Given the description of an element on the screen output the (x, y) to click on. 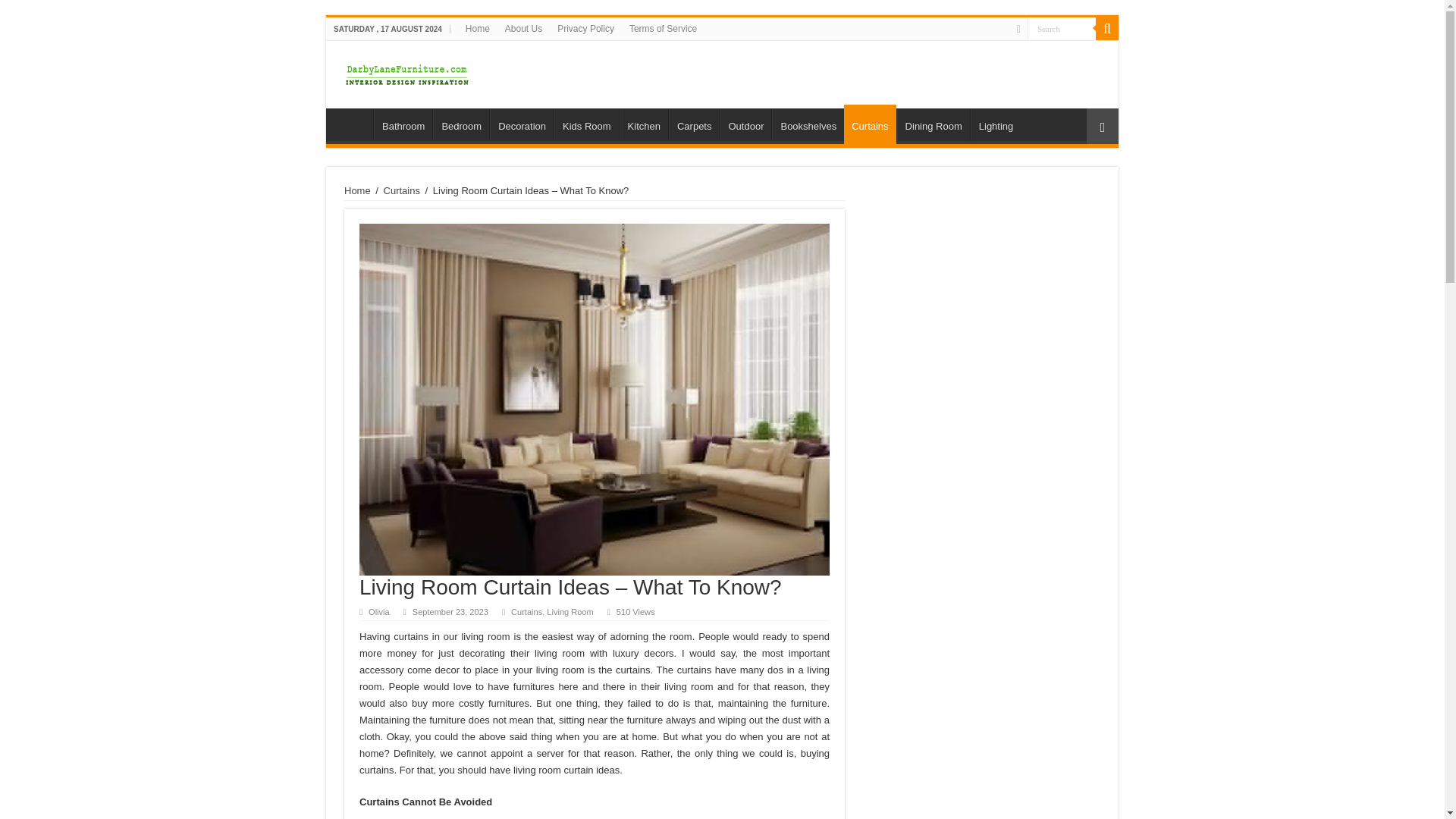
Bookshelves (807, 124)
Home (477, 28)
Outdoor (745, 124)
Privacy Policy (585, 28)
Terms of Service (662, 28)
Decoration (521, 124)
Home (352, 124)
Random Article (1102, 126)
Carpets (693, 124)
Curtains (526, 611)
